Given the description of an element on the screen output the (x, y) to click on. 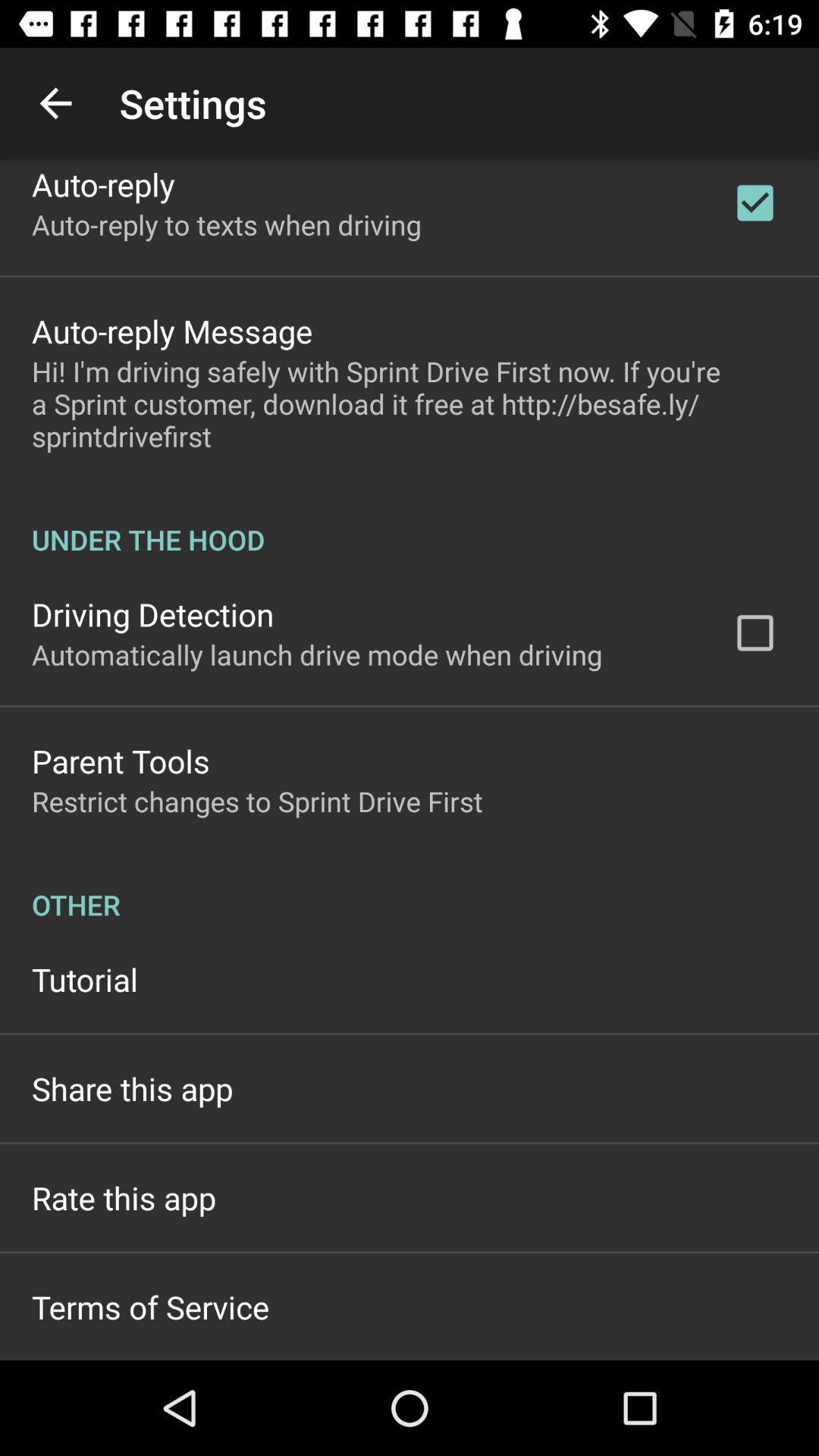
press item above under the hood item (409, 403)
